Given the description of an element on the screen output the (x, y) to click on. 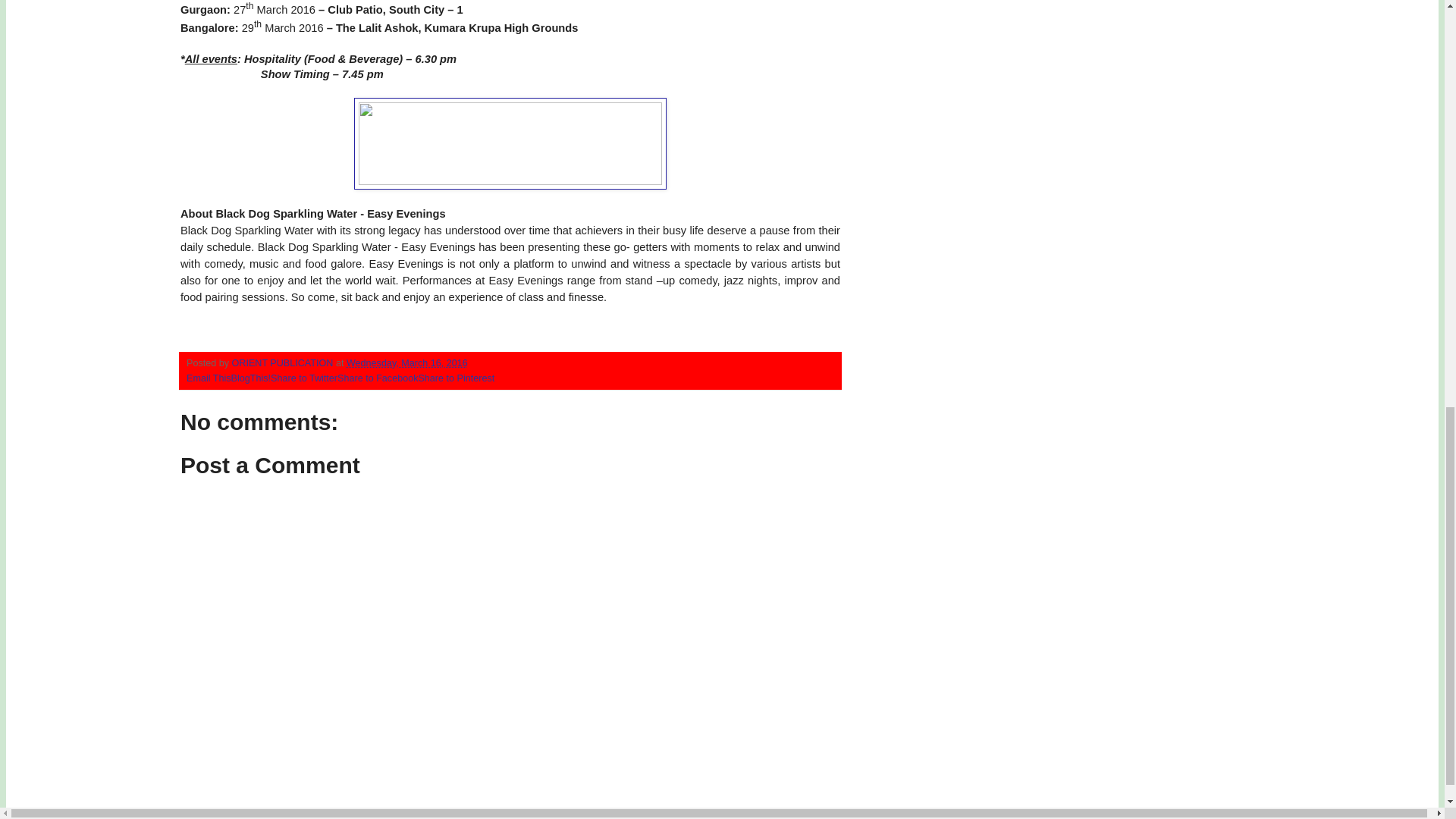
ORIENT PUBLICATION (283, 362)
Email This (208, 378)
Share to Pinterest (456, 378)
Share to Twitter (303, 378)
Wednesday, March 16, 2016 (406, 362)
Email This (208, 378)
BlogThis! (250, 378)
BlogThis! (250, 378)
Share to Twitter (303, 378)
Share to Pinterest (456, 378)
